Given the description of an element on the screen output the (x, y) to click on. 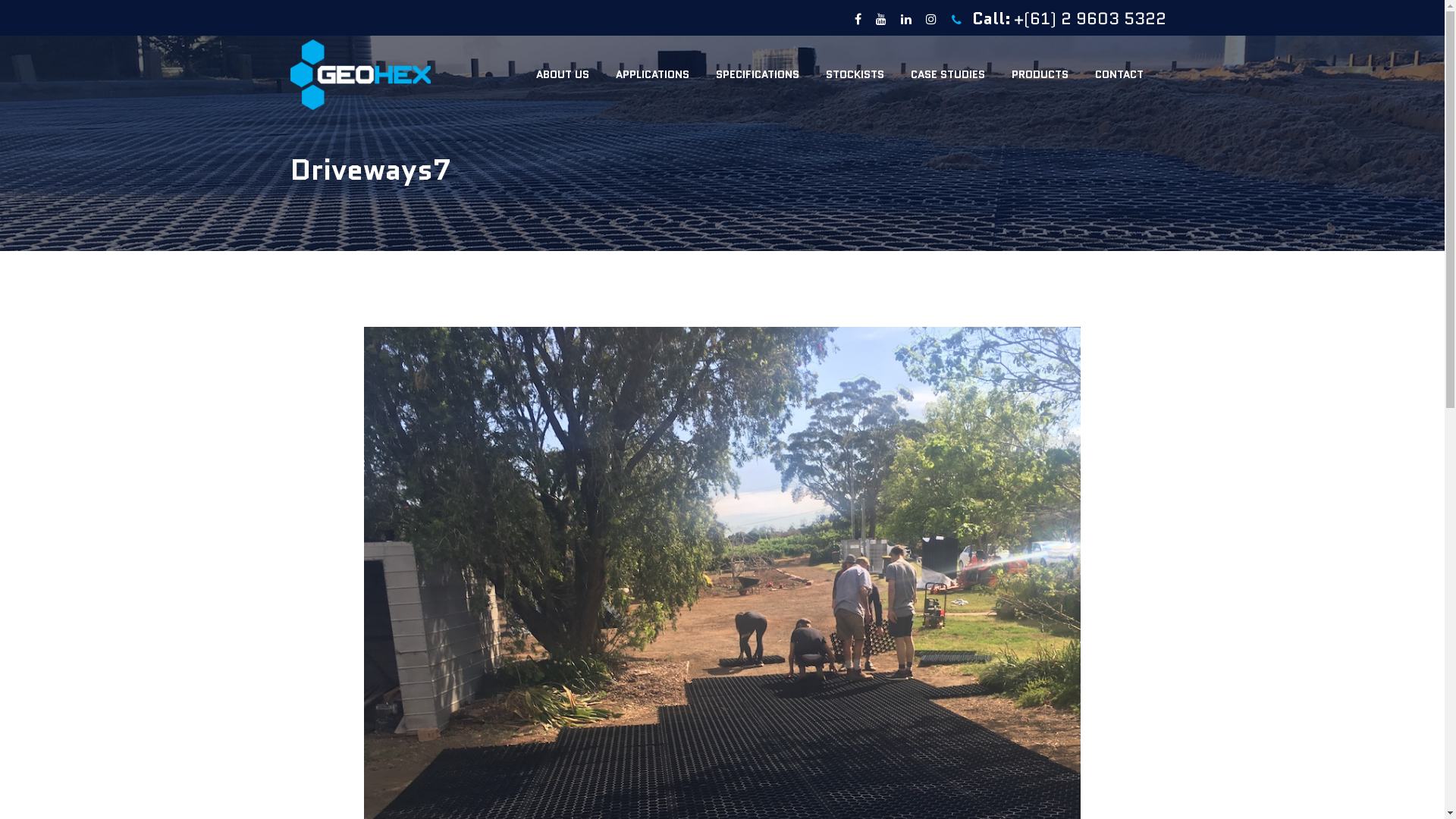
PRODUCTS Element type: text (1039, 74)
Call: +(61) 2 9603 5322 Element type: text (1057, 20)
CASE STUDIES Element type: text (947, 74)
CONTACT Element type: text (1118, 74)
APPLICATIONS Element type: text (651, 74)
ABOUT US Element type: text (562, 74)
STOCKISTS Element type: text (854, 74)
SPECIFICATIONS Element type: text (756, 74)
